Given the description of an element on the screen output the (x, y) to click on. 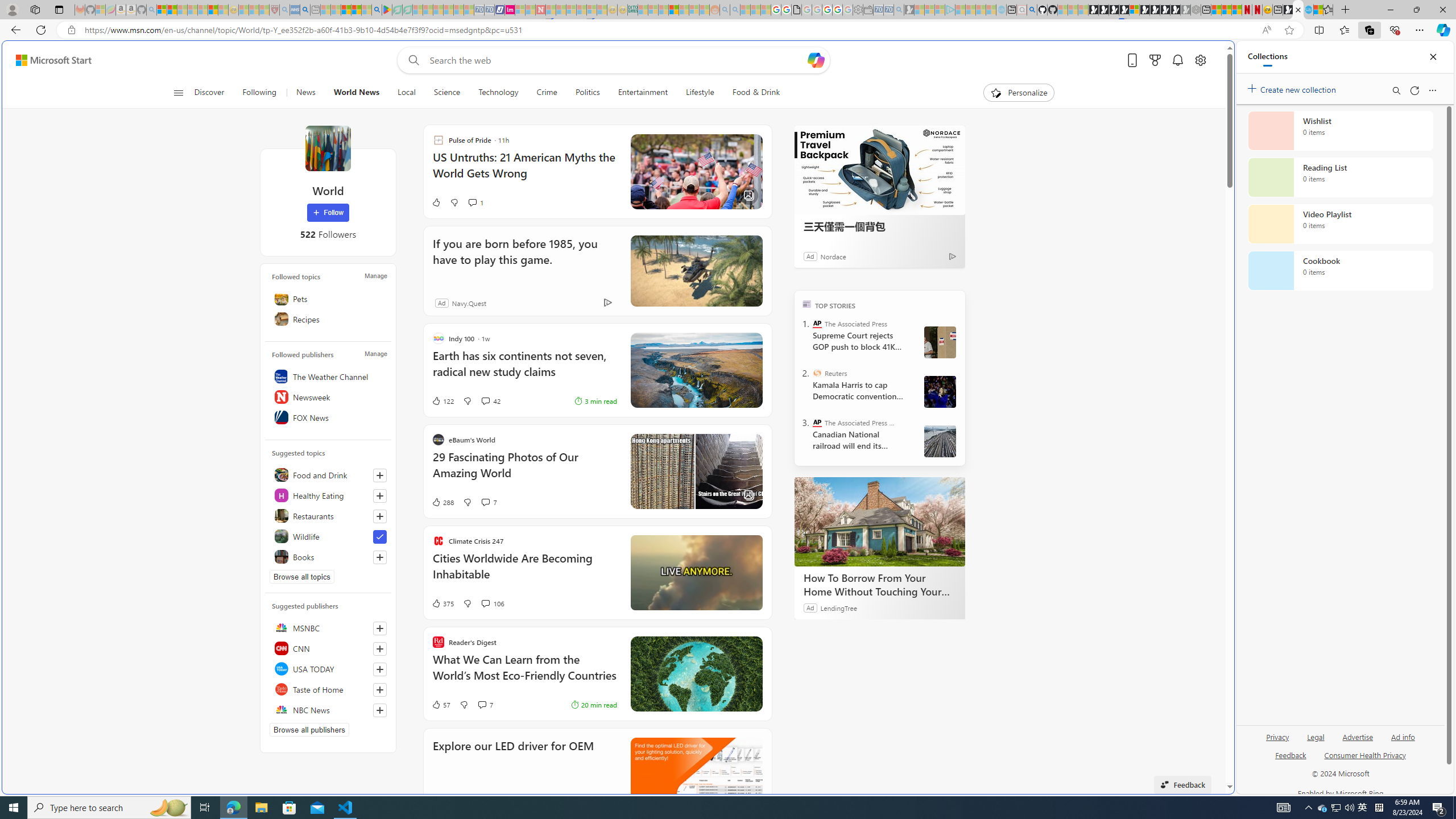
View comments 42 Comment (490, 400)
eBaum's World29 Fascinating Photos of Our Amazing World288 (596, 471)
Tabs you've opened (885, 151)
